Given the description of an element on the screen output the (x, y) to click on. 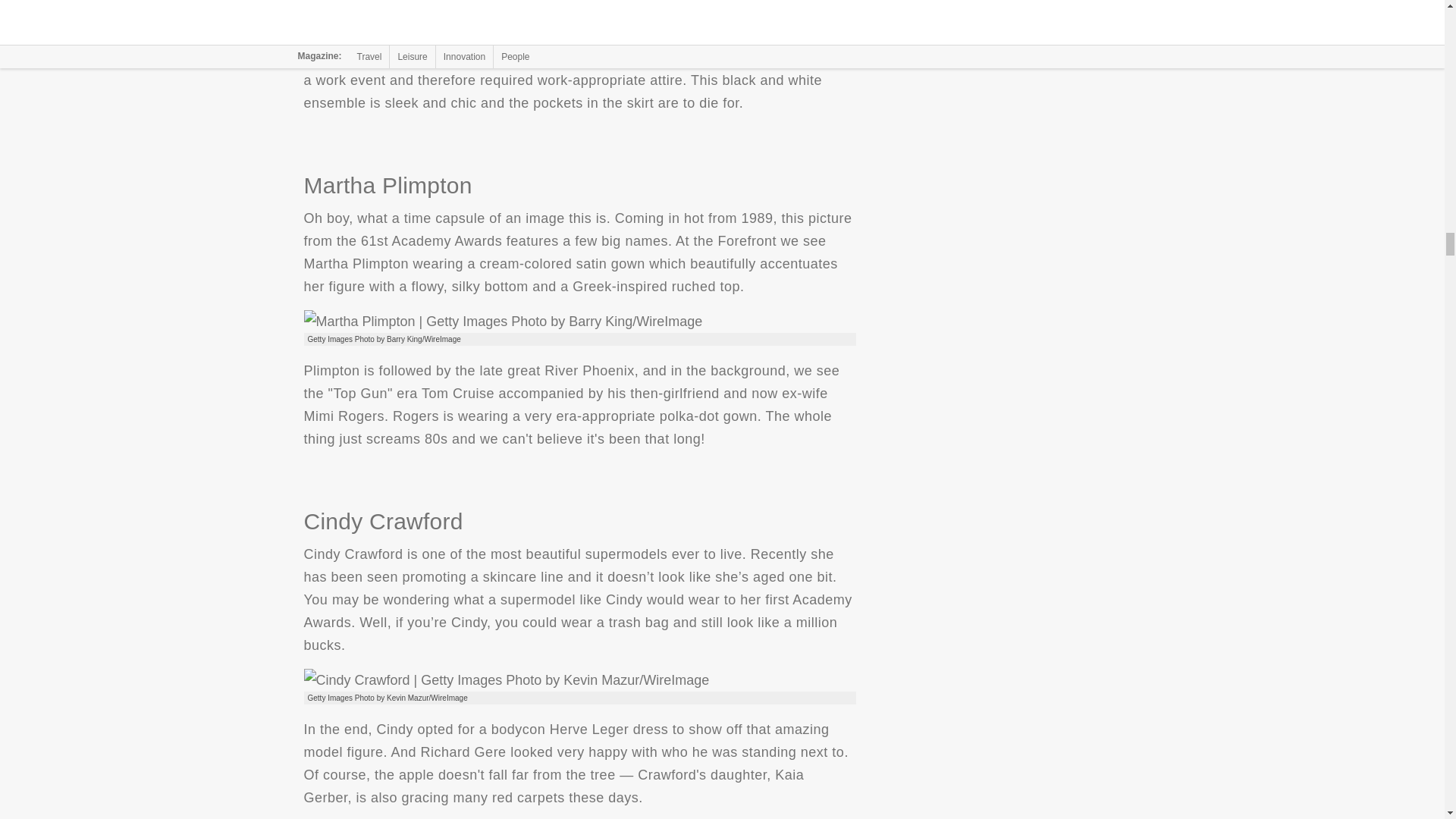
Uma Thurman (479, 9)
